Given the description of an element on the screen output the (x, y) to click on. 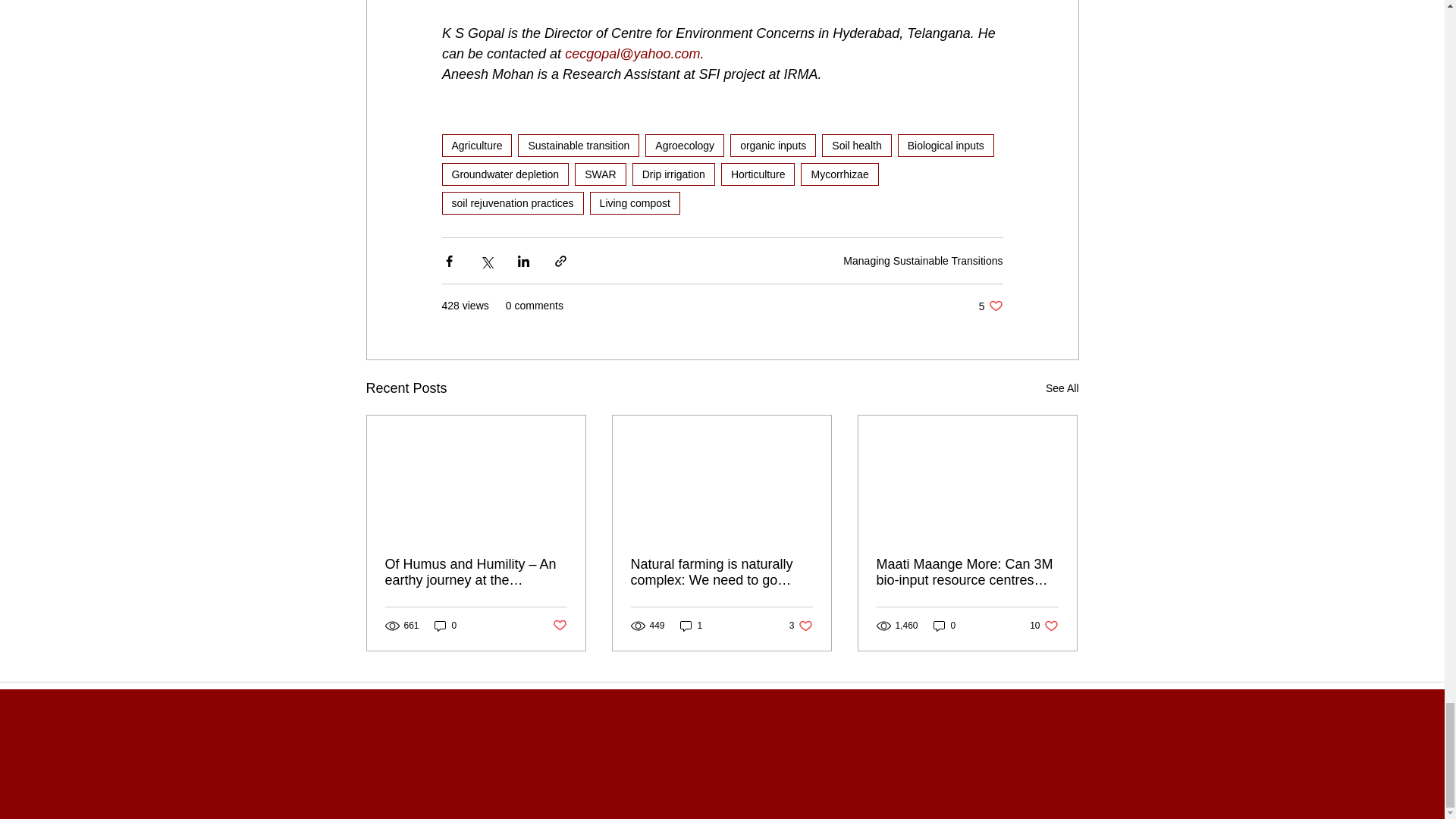
Sustainable transition (578, 145)
Soil health (856, 145)
Agroecology (684, 145)
Groundwater depletion (505, 173)
organic inputs (772, 145)
Biological inputs (946, 145)
Agriculture (476, 145)
